Given the description of an element on the screen output the (x, y) to click on. 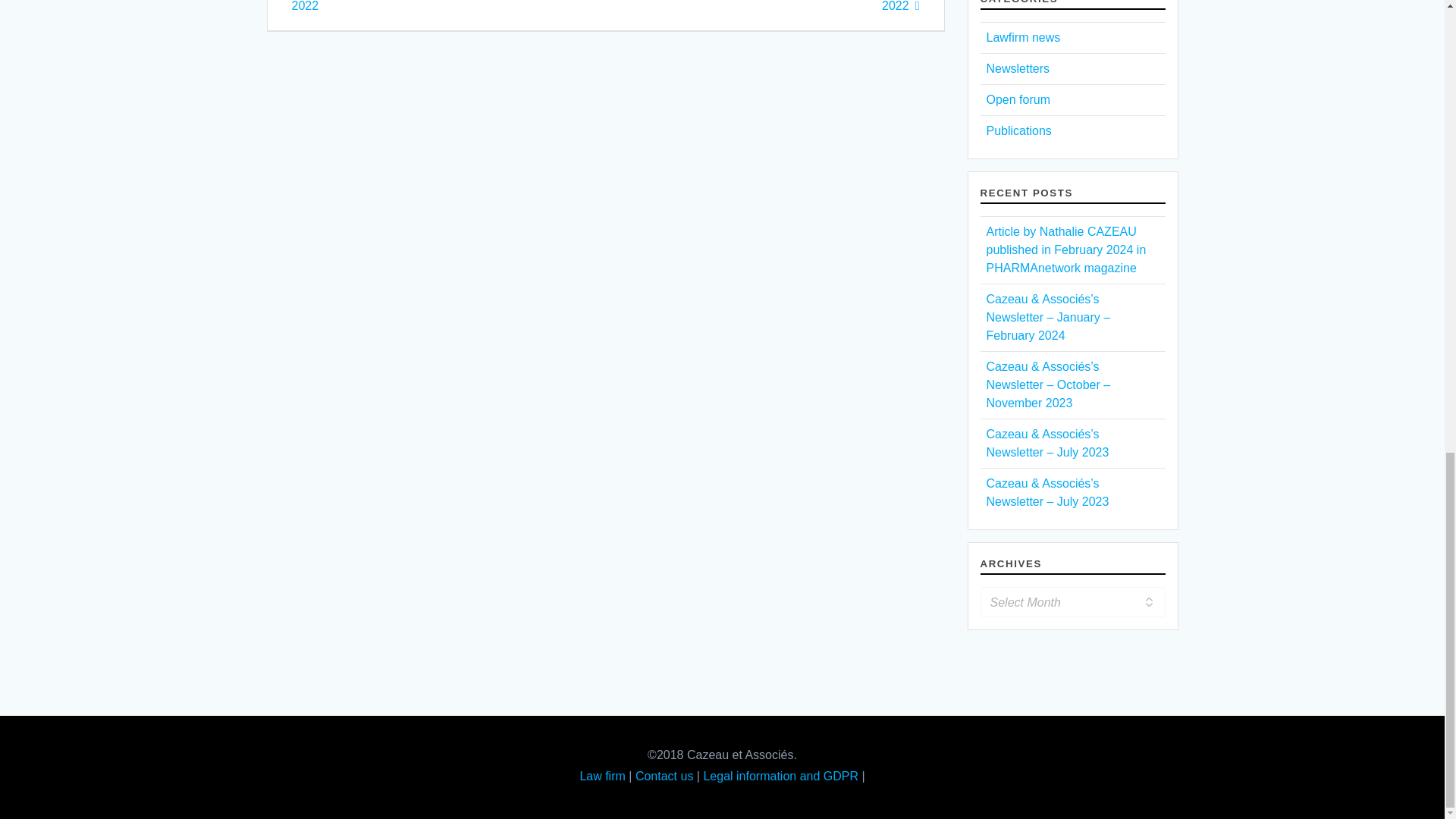
Legal information and GDPR (781, 775)
Lawfirm news (1022, 37)
Law firm (601, 775)
Contact us (663, 775)
Newsletters (1017, 68)
Publications (1018, 130)
Open forum (1017, 99)
